Given the description of an element on the screen output the (x, y) to click on. 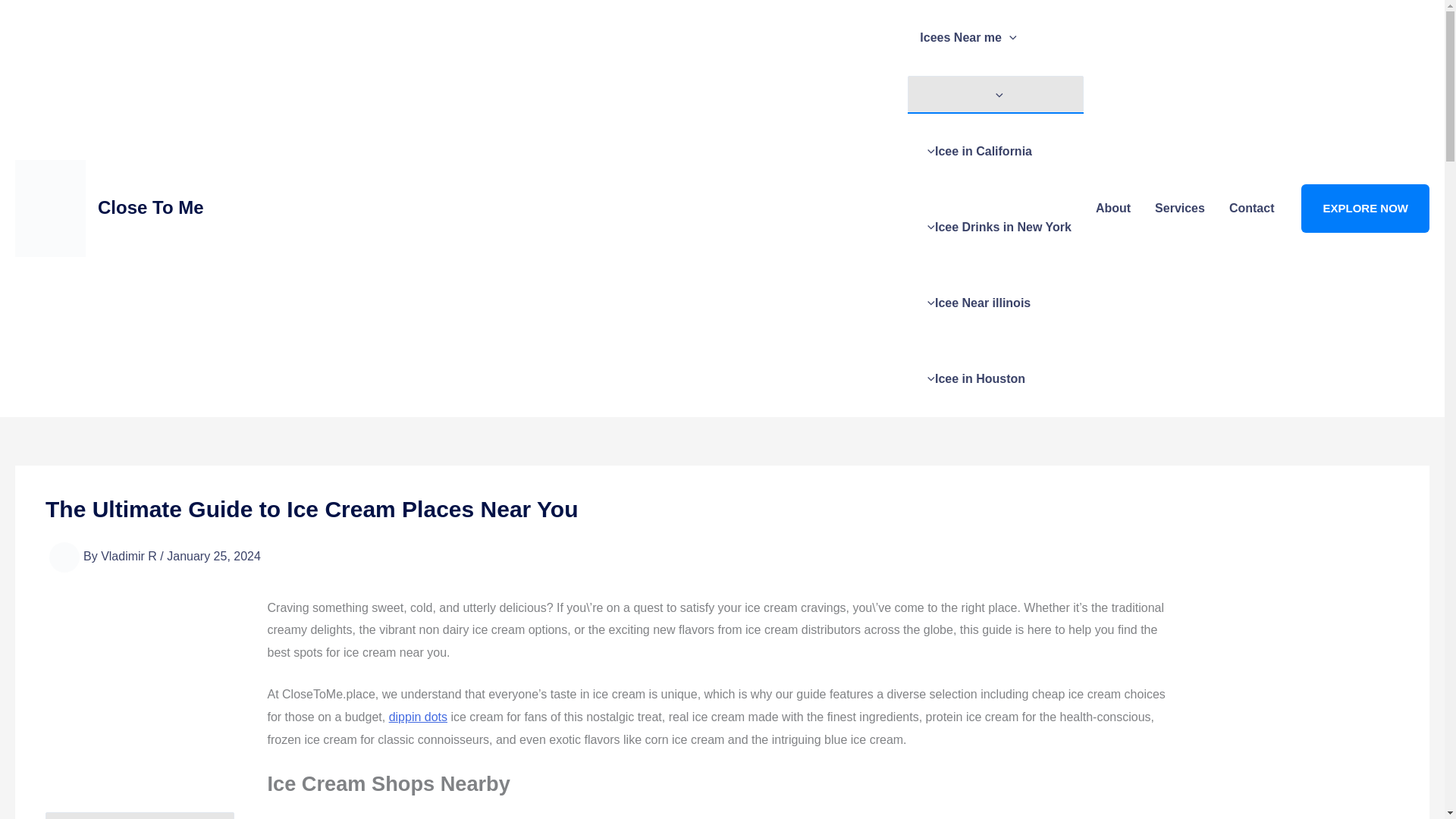
EXPLORE NOW (1365, 208)
Menu Toggle (995, 94)
Find Nearby Ice Cream Shops (139, 815)
View all posts by Vladimir R (130, 555)
Icee Near illinois (995, 303)
dippin dots (417, 716)
Vladimir R (130, 555)
Icees Near me (995, 38)
Icee in Houston (995, 378)
Icee Drinks in New York (995, 227)
